Given the description of an element on the screen output the (x, y) to click on. 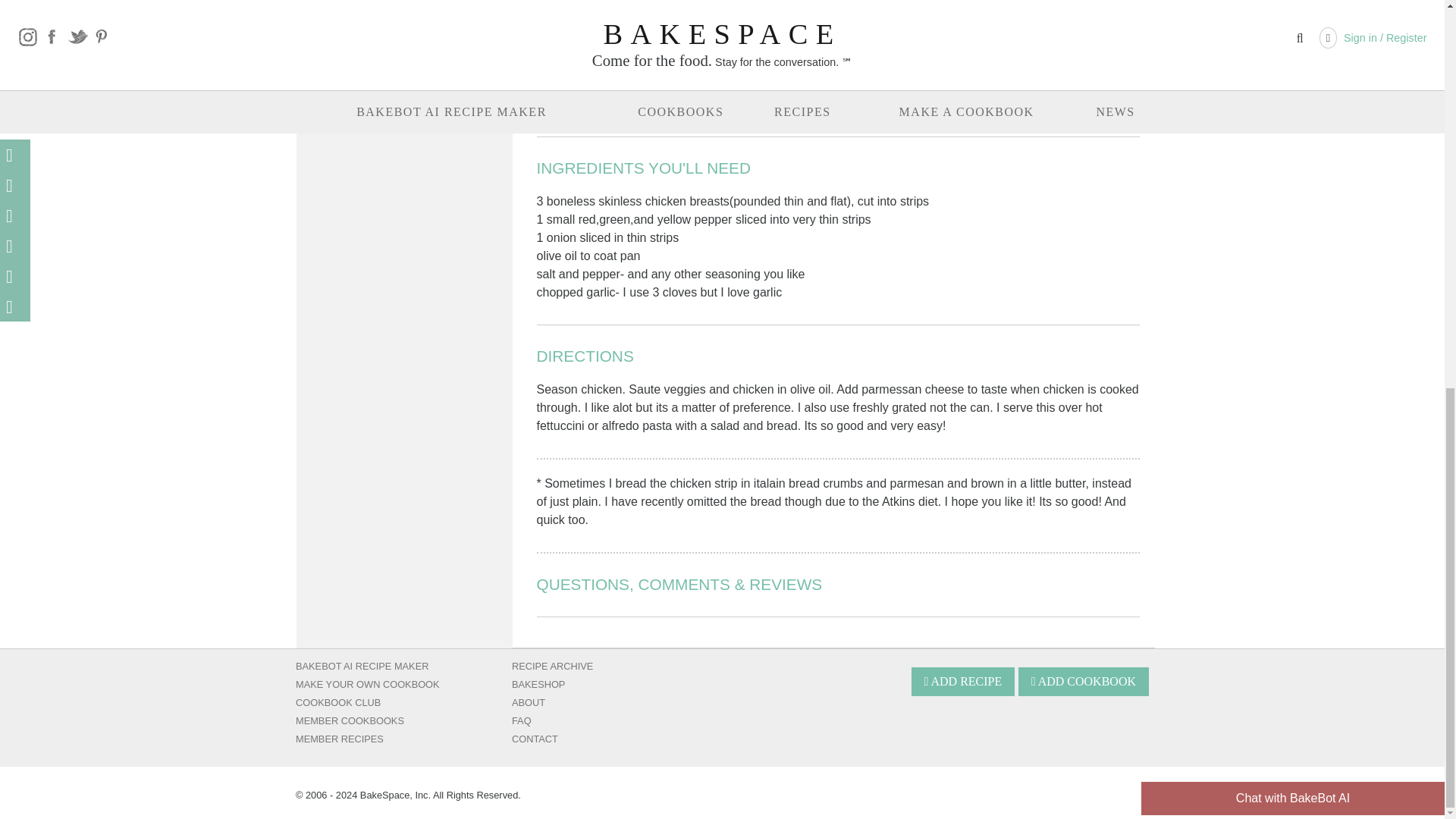
LEARN MORE (362, 72)
